Given the description of an element on the screen output the (x, y) to click on. 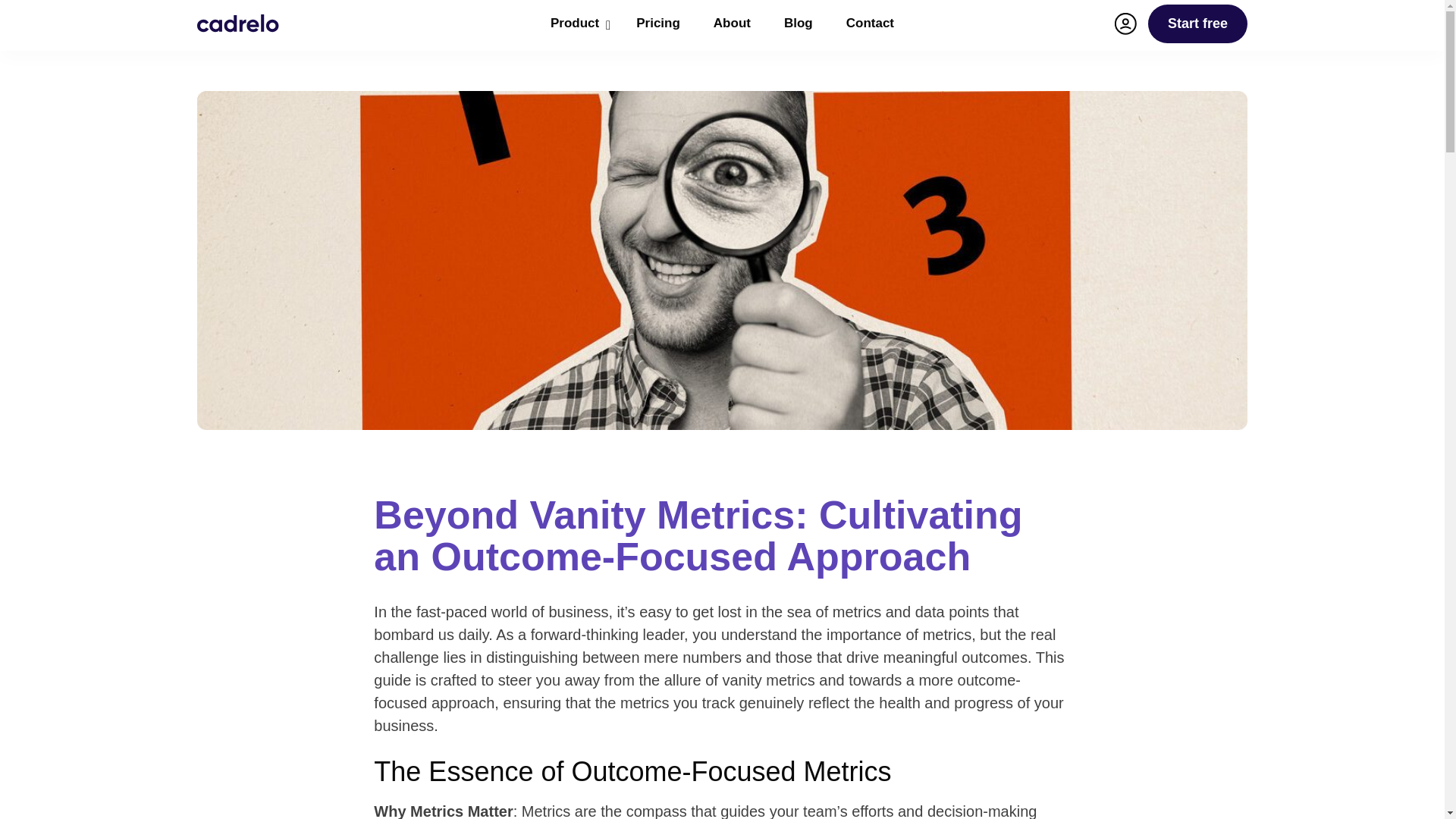
Product (576, 23)
Blog (798, 23)
Pricing (722, 23)
Contact (658, 23)
Cadrelo (869, 23)
About (237, 22)
Start free (731, 23)
